Given the description of an element on the screen output the (x, y) to click on. 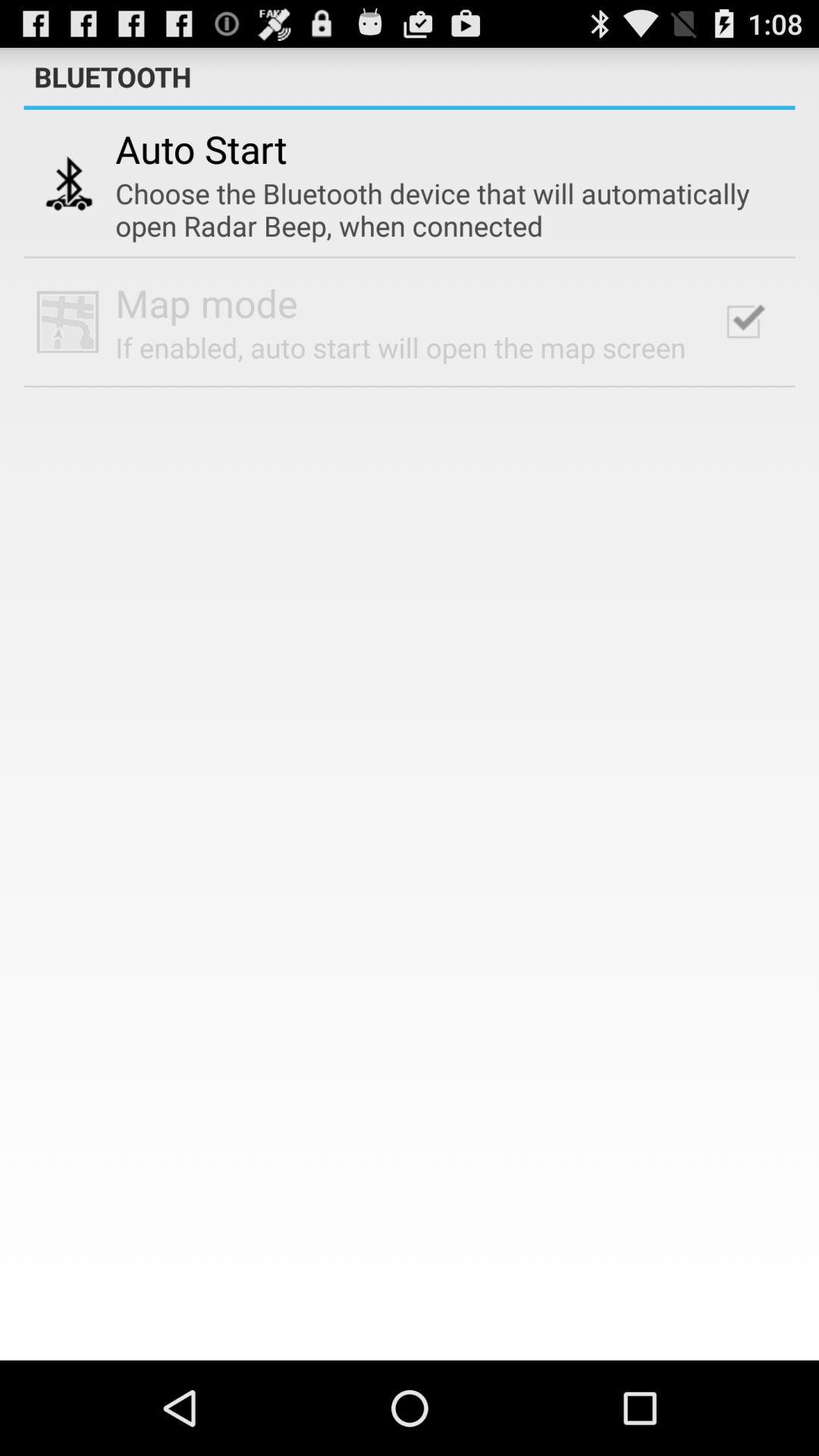
tap if enabled auto (400, 347)
